Given the description of an element on the screen output the (x, y) to click on. 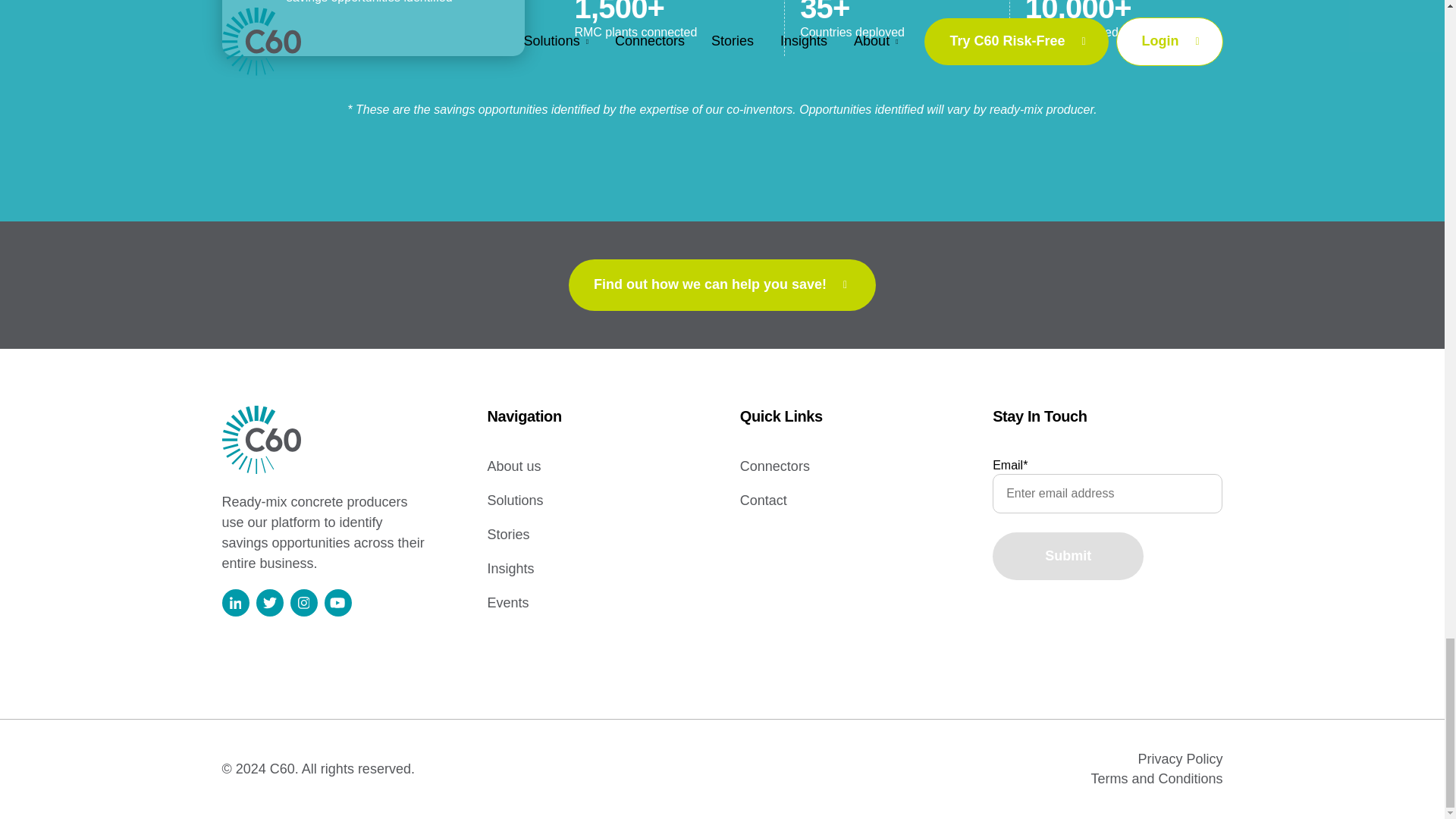
Submit (1067, 555)
Find out how we can help you save! (722, 284)
Follow us on Facebook (338, 602)
Follow us on Twitter (269, 602)
Follow us on Facebook (337, 602)
About us (513, 466)
Follow us on LinkedIn (234, 602)
Follow us on Twitter (269, 602)
Follow us on Instagram (303, 602)
